Given the description of an element on the screen output the (x, y) to click on. 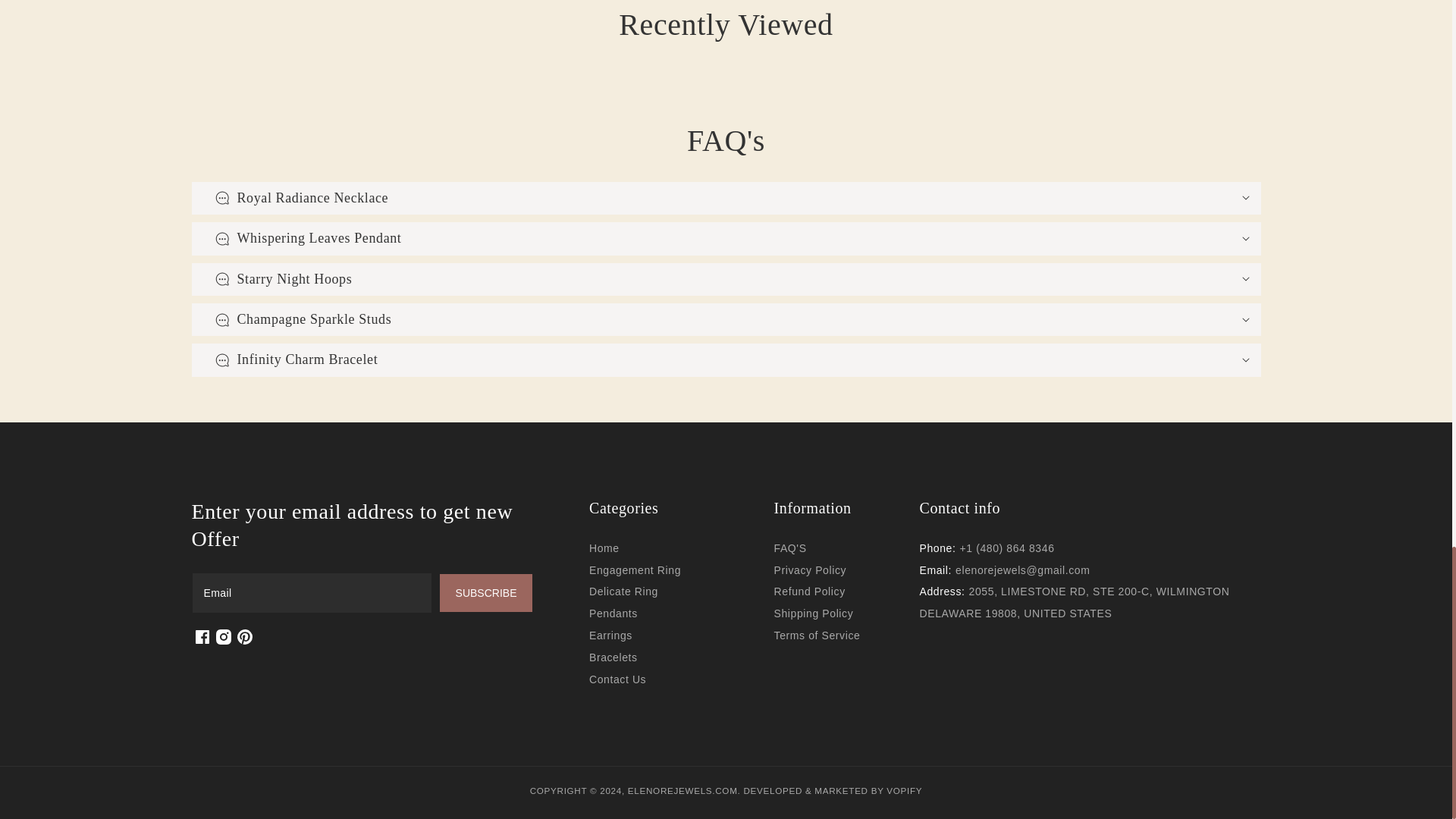
Vopify Techology (903, 790)
Vopify Marketing (840, 790)
Vopify Techology (772, 790)
